Given the description of an element on the screen output the (x, y) to click on. 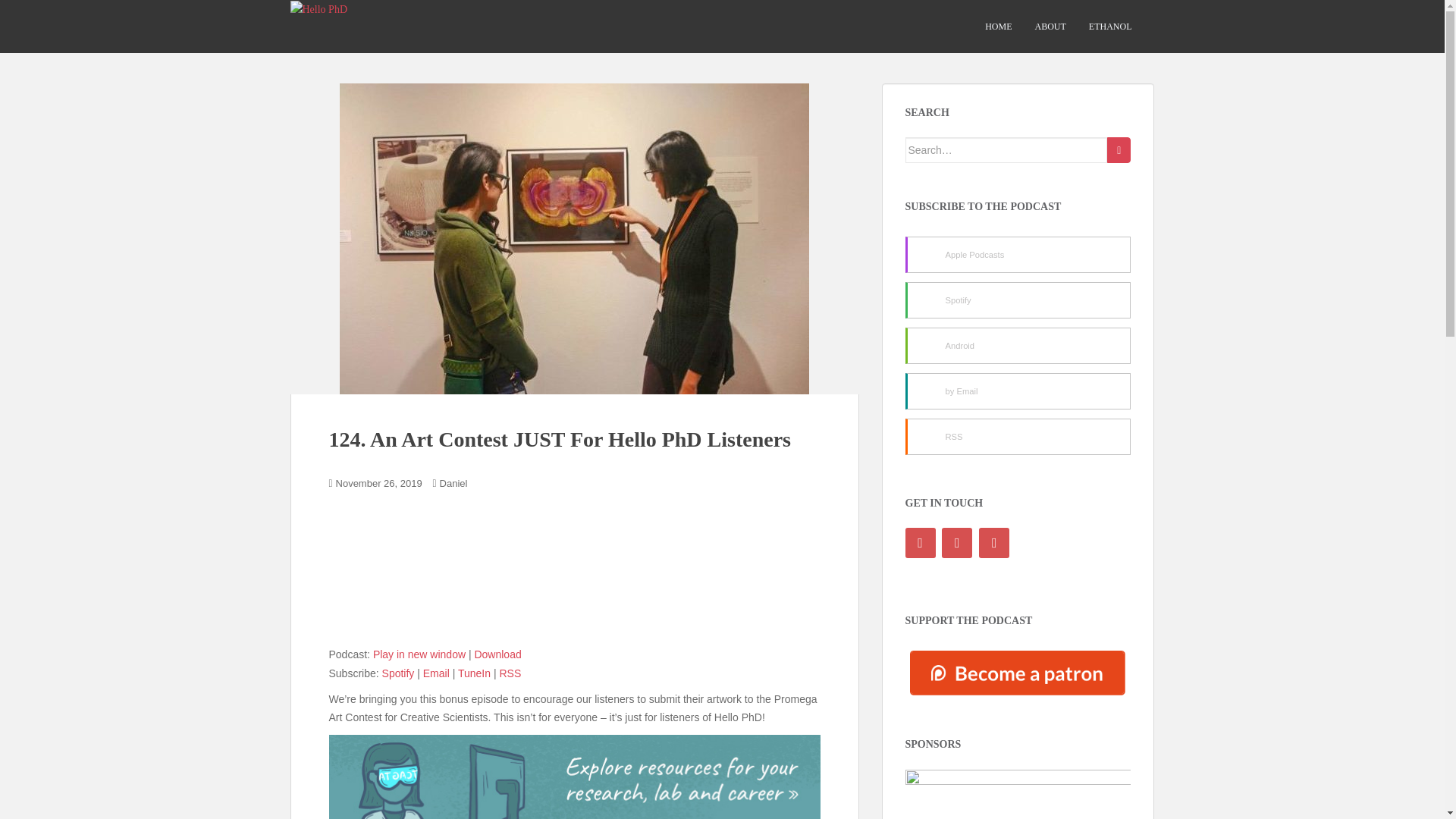
Download (497, 654)
Play in new window (418, 654)
Blubrry Podcast Player (575, 577)
Email (436, 673)
RSS (510, 673)
Android (1018, 345)
November 26, 2019 (379, 482)
TuneIn (474, 673)
RSS (1018, 436)
Subscribe on TuneIn (474, 673)
